Given the description of an element on the screen output the (x, y) to click on. 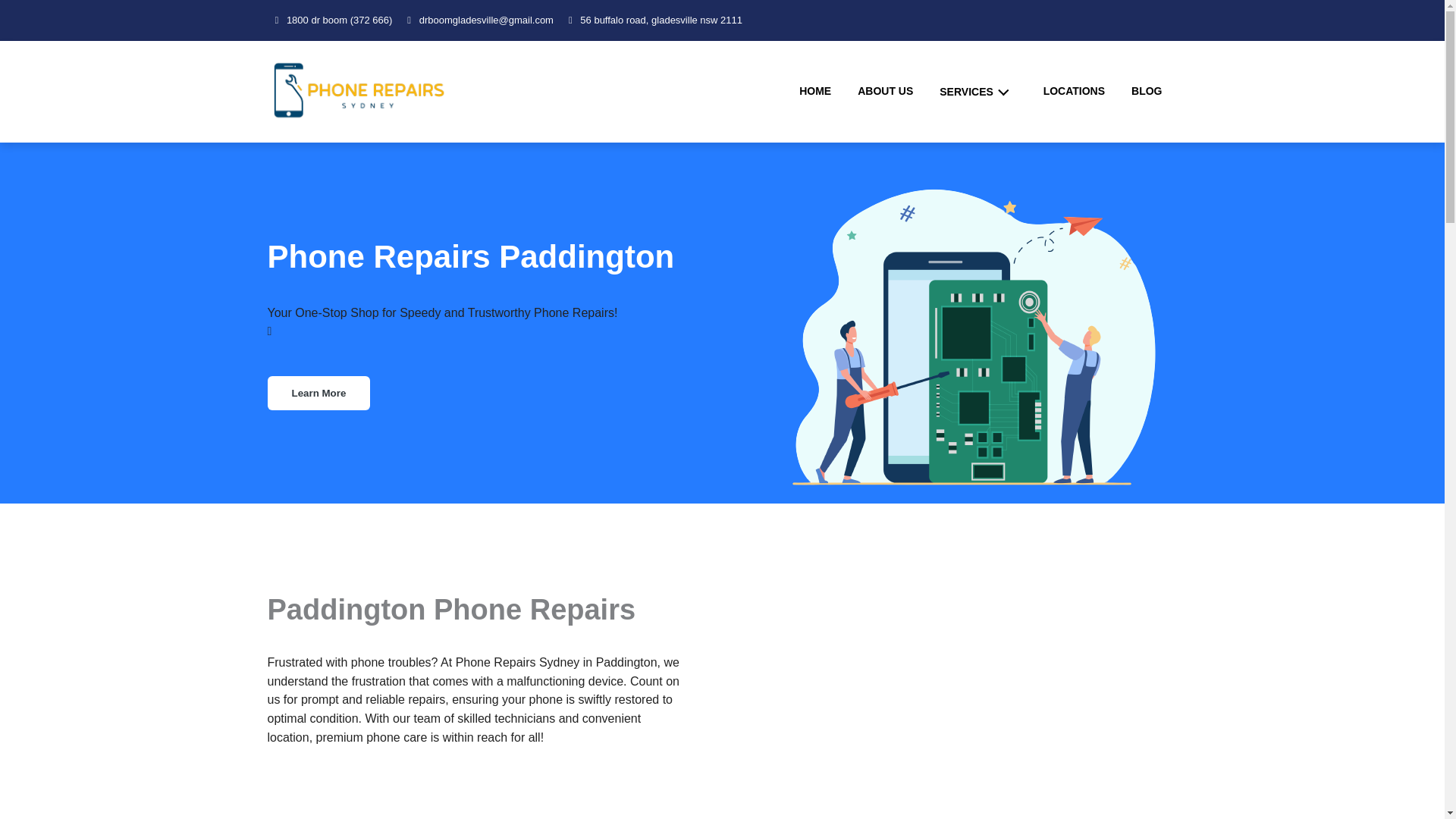
Paddington , Australia (949, 677)
ABOUT US (885, 90)
BLOG (1146, 90)
Learn More (317, 392)
56 buffalo road, gladesville nsw 2111 (655, 20)
HOME (815, 90)
LOCATIONS (1073, 90)
SERVICES (977, 91)
